Given the description of an element on the screen output the (x, y) to click on. 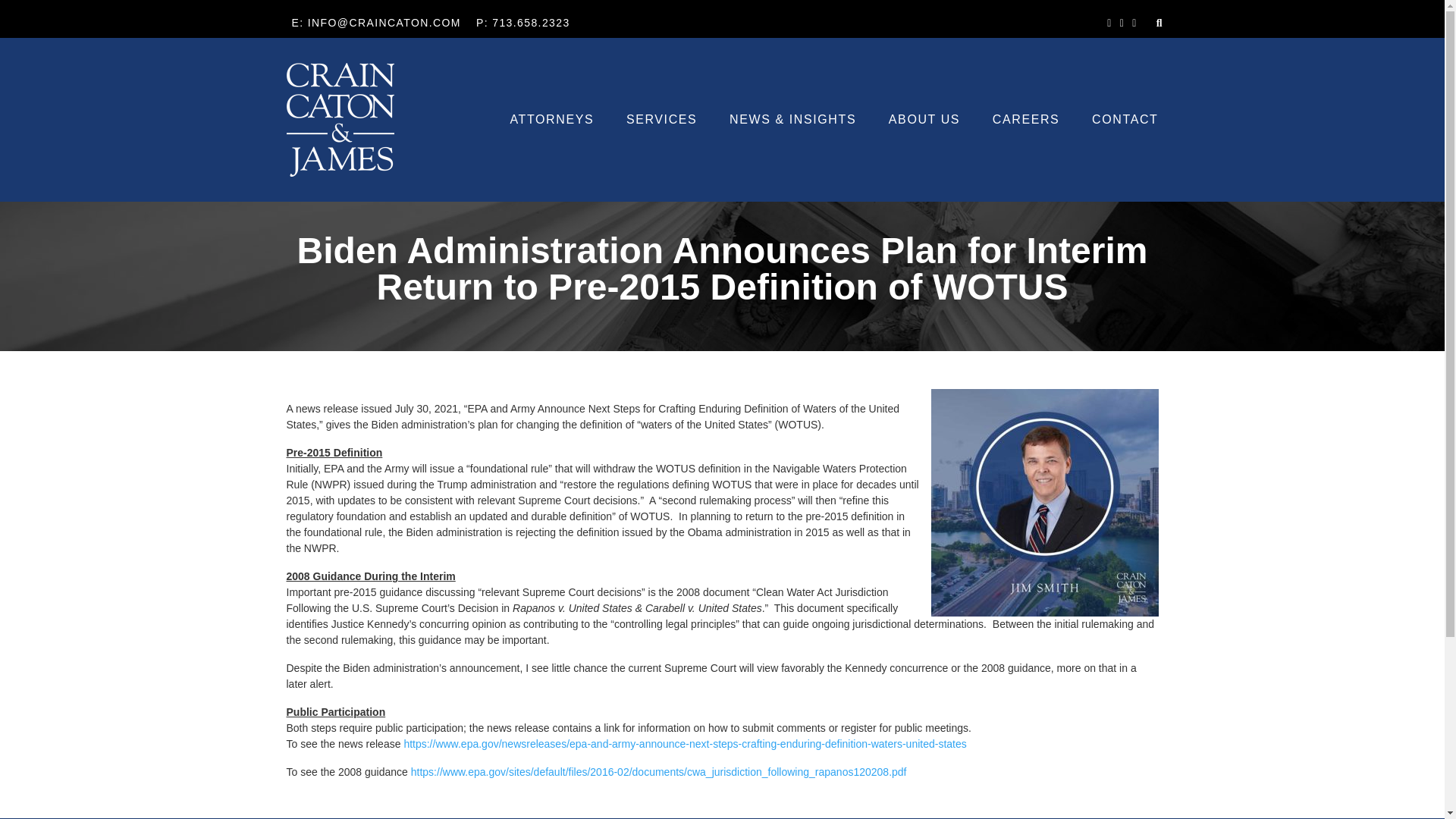
P: 713.658.2323 (523, 22)
